Given the description of an element on the screen output the (x, y) to click on. 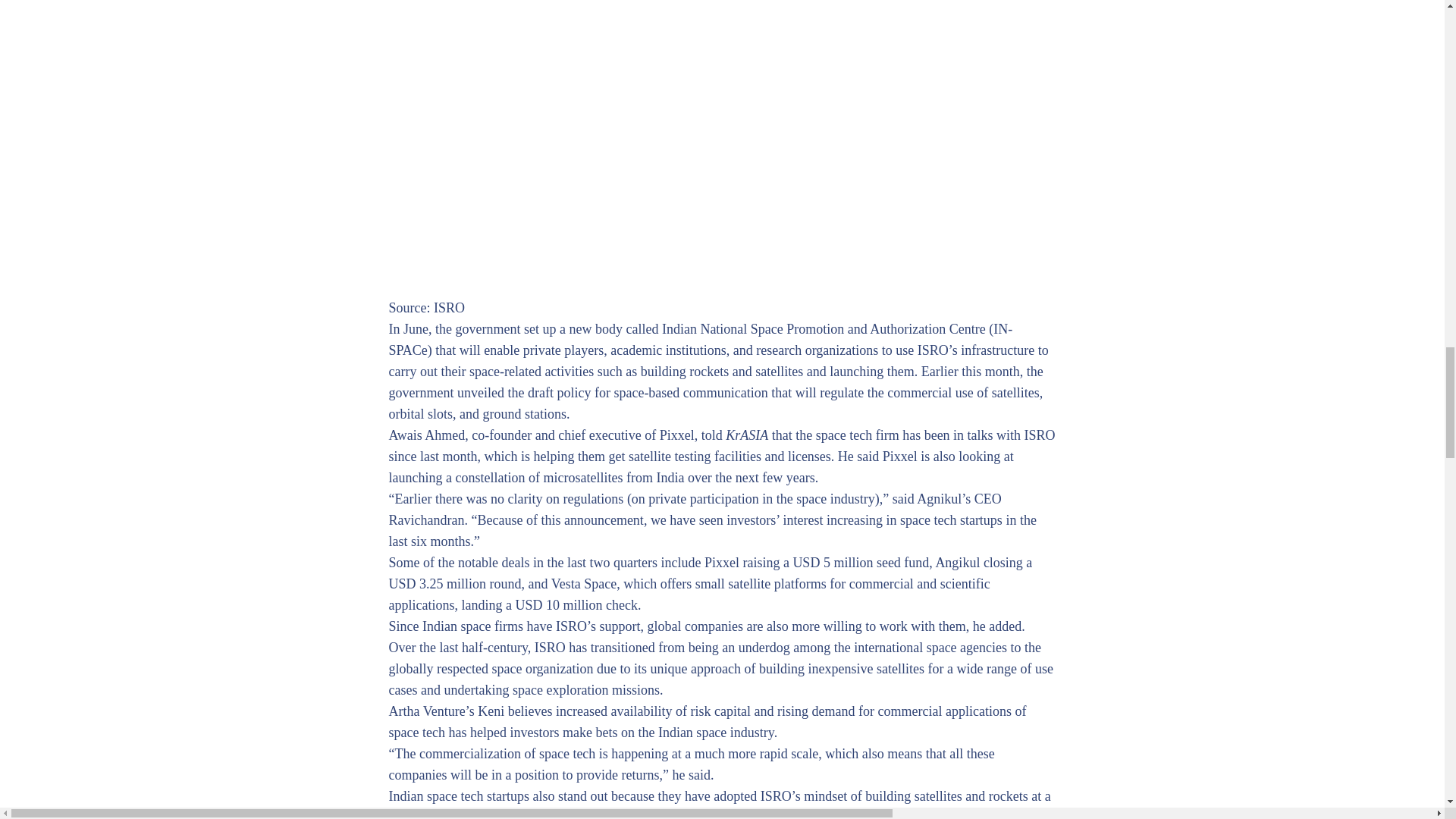
USD 3.25 million (437, 583)
inexpensive satellites (866, 668)
USD 10 million (558, 604)
USD 5 million (832, 562)
